Given the description of an element on the screen output the (x, y) to click on. 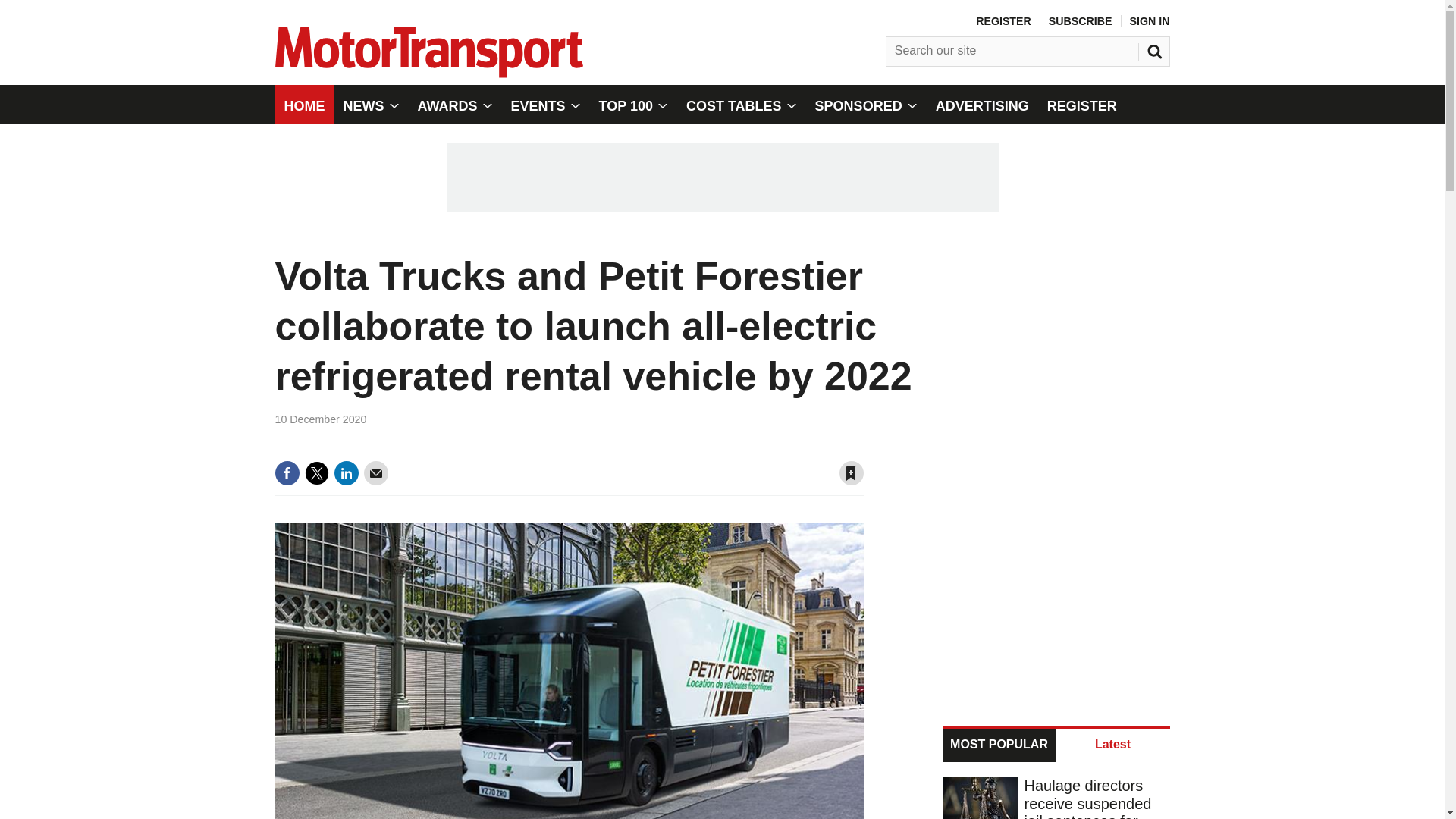
Email this article (376, 473)
Share this on Linked in (345, 473)
Site name (428, 73)
SUBSCRIBE (1080, 21)
Share this on Facebook (286, 473)
3rd party ad content (1056, 570)
3rd party ad content (721, 177)
Share this on Twitter (316, 473)
SIGN IN (1149, 21)
SEARCH (1156, 48)
REGISTER (1002, 21)
